Given the description of an element on the screen output the (x, y) to click on. 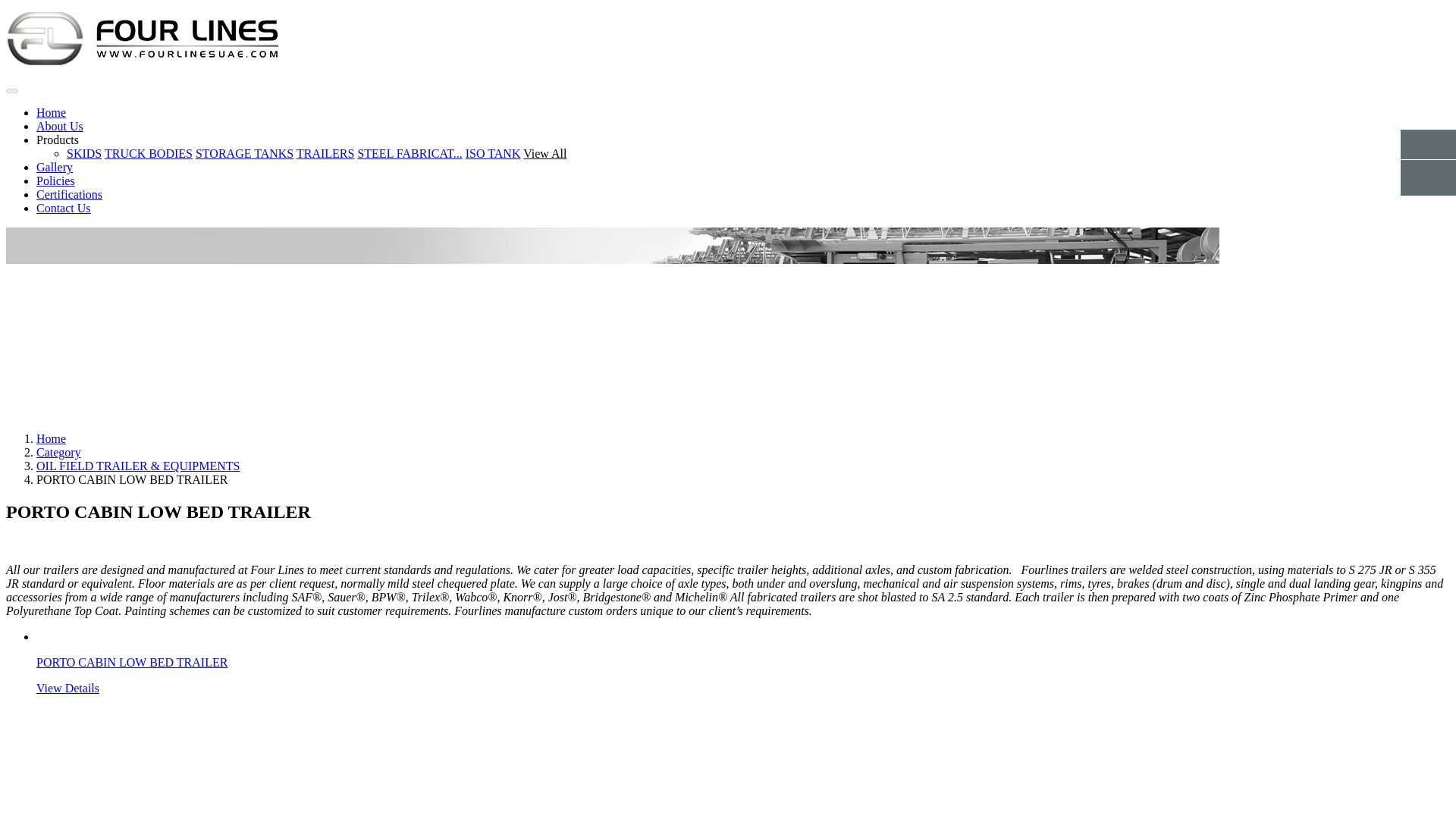
ISO TANK (493, 153)
Certifications (68, 194)
PORTO CABIN LOW BED TRAILER (131, 662)
View All (544, 153)
STORAGE TANKS (244, 153)
Contact Us (63, 207)
TRAILERS (325, 153)
TRAILERS (325, 153)
Home (50, 112)
Policies (55, 180)
Gallery (54, 166)
About Us (59, 125)
TRUCK BODIES (148, 153)
STEEL FABRICAT... (408, 153)
Certifications (68, 194)
